Given the description of an element on the screen output the (x, y) to click on. 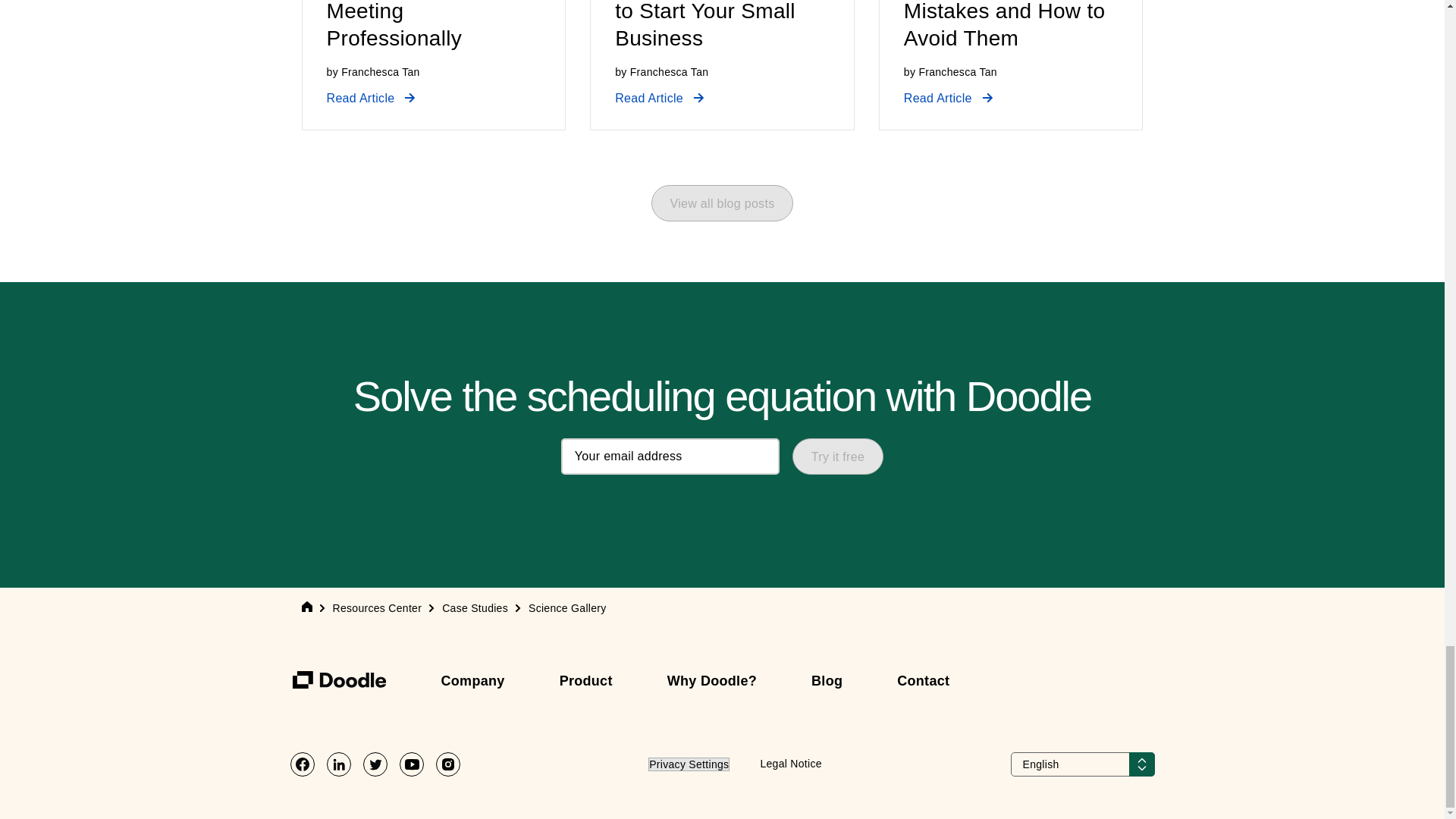
Read Article (371, 98)
View all blog posts (721, 203)
Try it free (837, 456)
Read Article (948, 98)
Case Studies (475, 608)
Resources Center (376, 608)
Science Gallery (567, 608)
Read Article (659, 98)
